Given the description of an element on the screen output the (x, y) to click on. 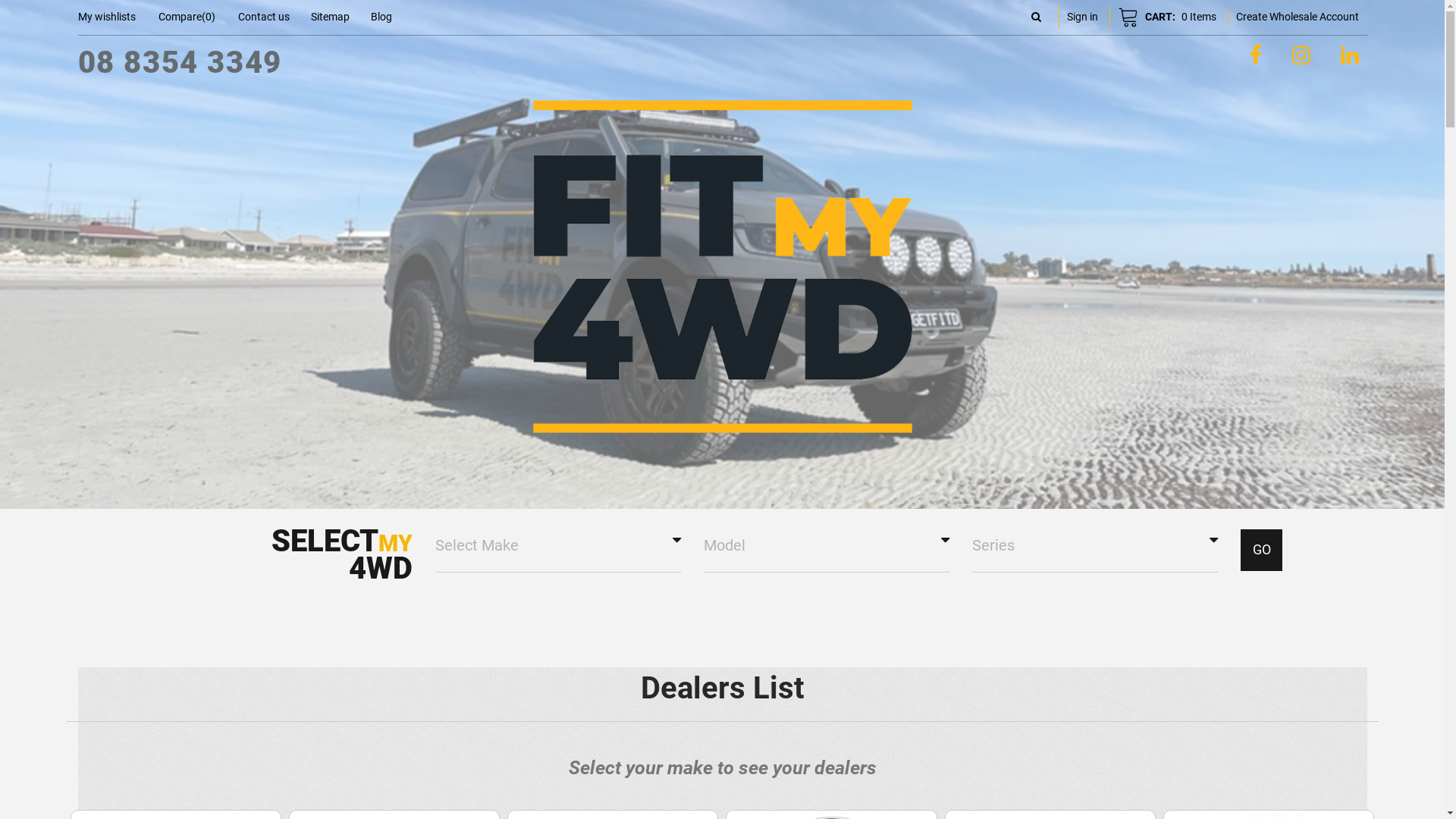
Create Wholesale Account Element type: text (1297, 16)
Compare(0) Element type: text (185, 16)
Blog Element type: text (380, 16)
Fitmy4wd.com.au Element type: hover (721, 253)
08 8354 3349 Element type: text (179, 62)
My wishlists Element type: text (105, 16)
CART:
0 Items Element type: text (1166, 17)
Series Element type: text (1094, 545)
Sign in Element type: text (1082, 16)
Select Make Element type: text (557, 545)
Sitemap Element type: text (329, 16)
Go Element type: text (1261, 550)
Contact us Element type: text (263, 16)
Model Element type: text (826, 545)
